Given the description of an element on the screen output the (x, y) to click on. 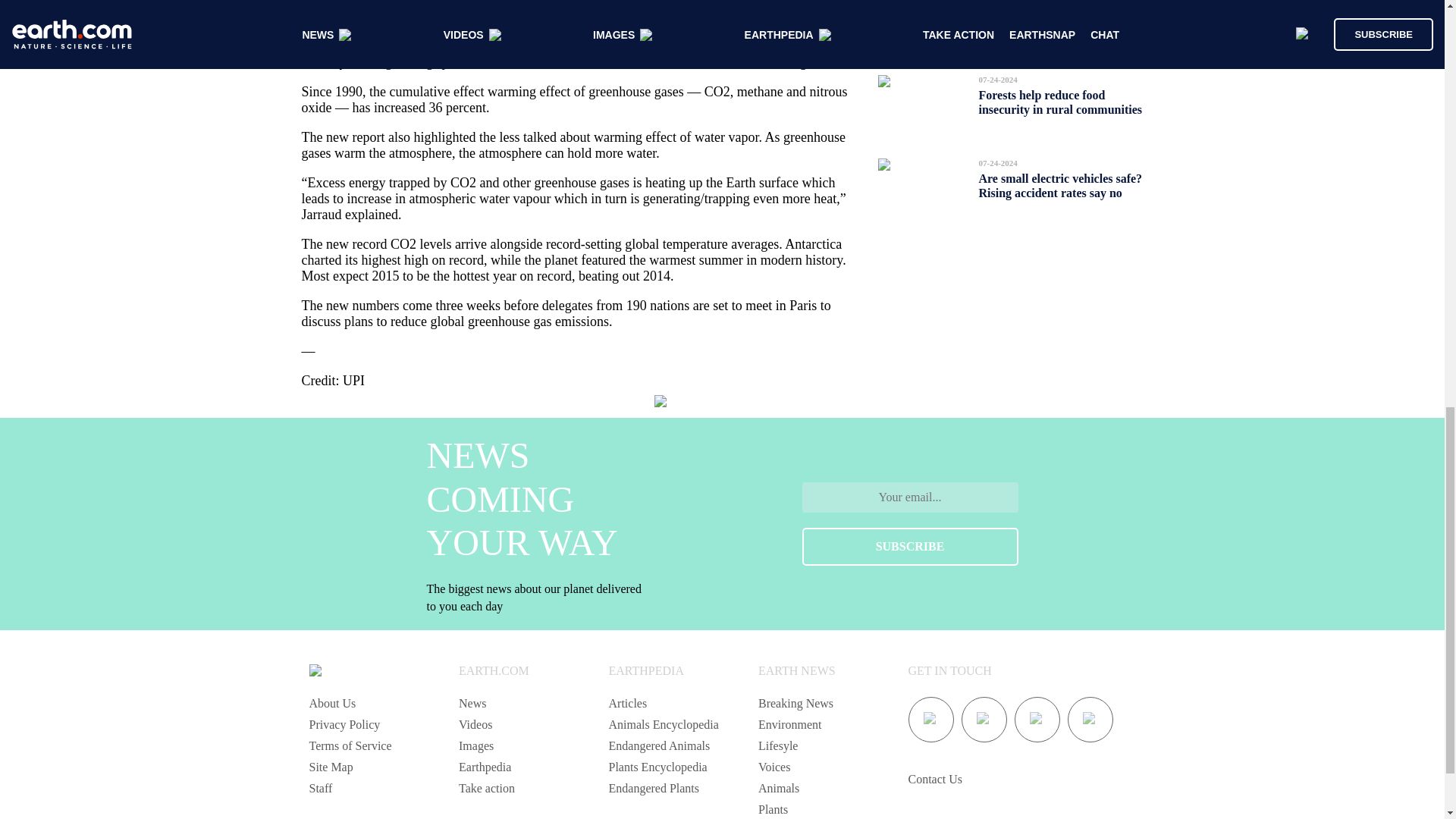
Terms of Service (349, 745)
About Us (332, 703)
Privacy Policy (344, 724)
Site Map (330, 766)
Forests help reduce food insecurity in rural communities (1059, 102)
SUBSCRIBE (909, 546)
Basking sharks are exceptionally vulnerable to ship strikes (1059, 27)
